Given the description of an element on the screen output the (x, y) to click on. 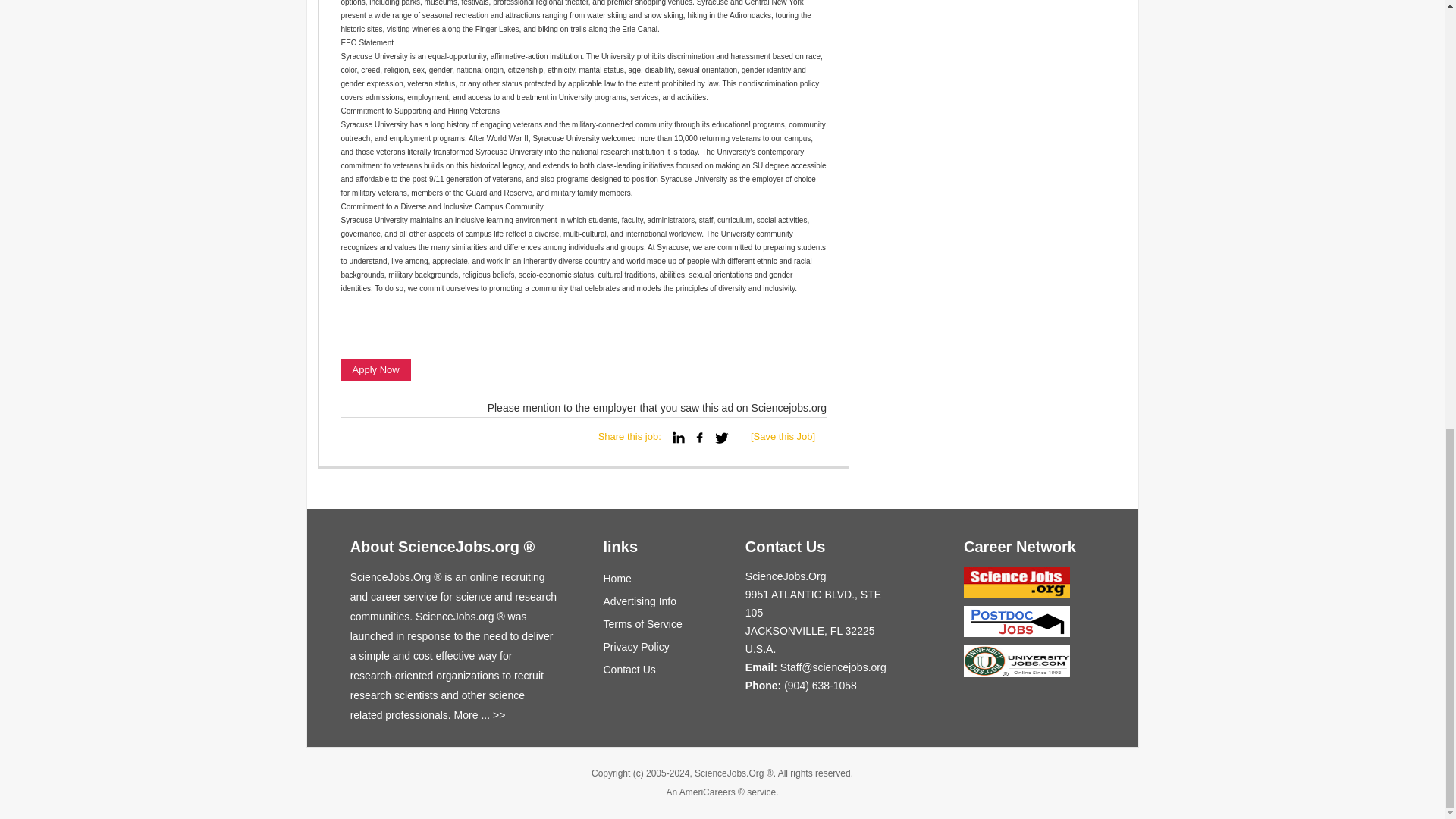
Advertising Info (640, 600)
AmeriCareers (707, 792)
Apply Now (375, 369)
Contact Us (630, 669)
Home (617, 578)
Terms of Service (643, 623)
Privacy Policy (636, 646)
